Given the description of an element on the screen output the (x, y) to click on. 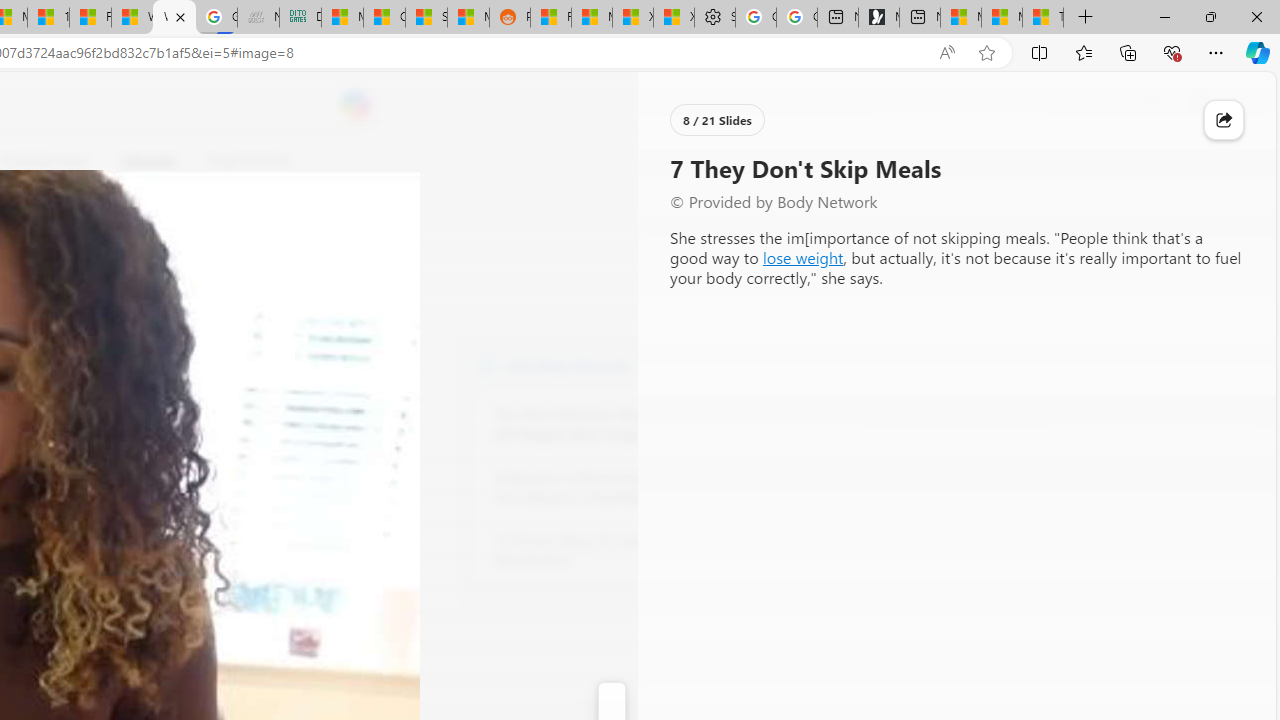
Add this page to favorites (Ctrl+D) (986, 53)
Microsoft Start Gaming (878, 17)
Lifestyle (148, 162)
Settings (714, 17)
Close tab (180, 16)
Go to publisher's site (180, 258)
Microsoft Start (1001, 17)
To get missing image descriptions, open the context menu. (671, 162)
Copilot (Ctrl+Shift+.) (1258, 52)
Open Copilot (355, 105)
MSNBC - MSN (342, 17)
